Given the description of an element on the screen output the (x, y) to click on. 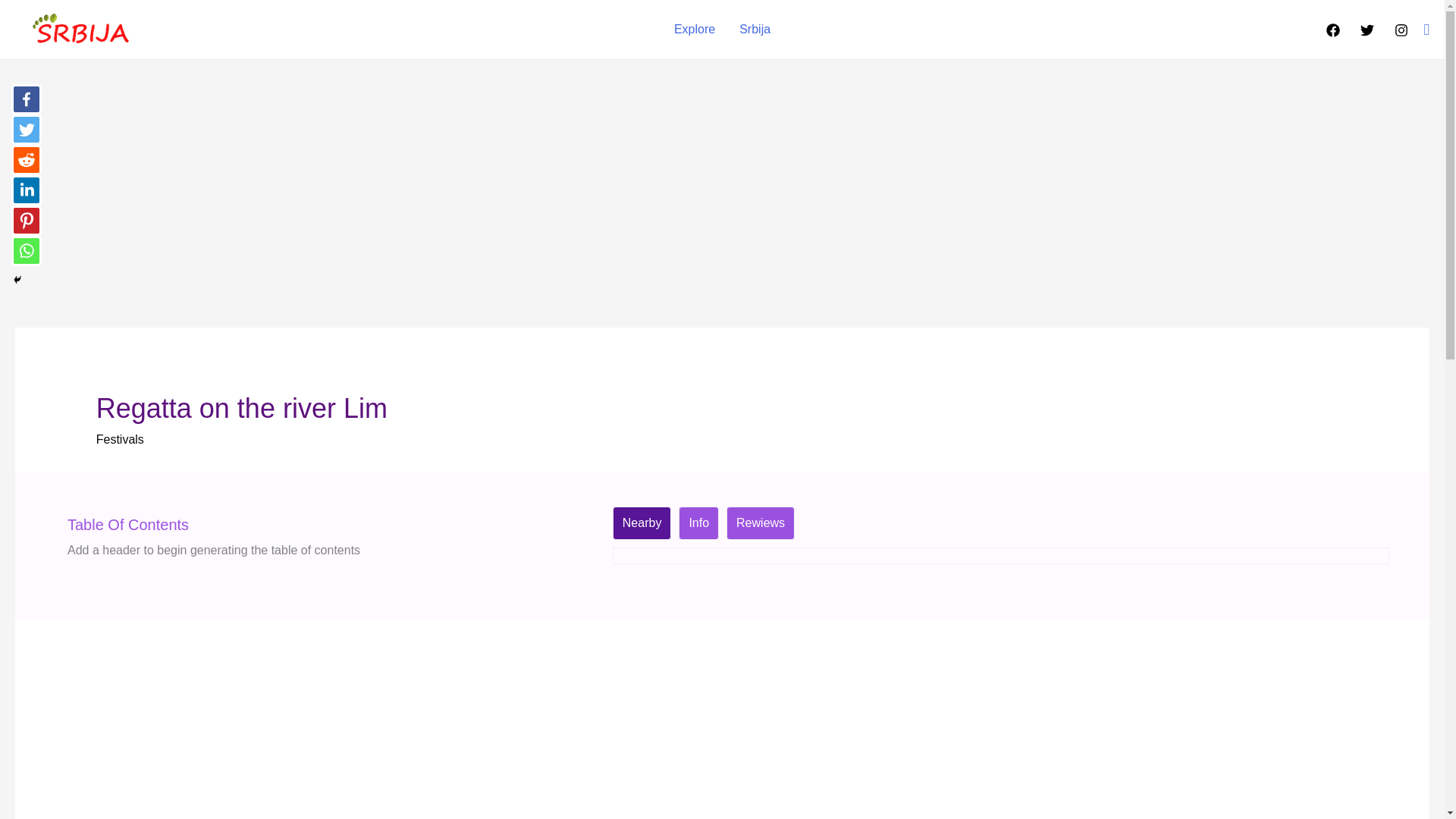
Info (698, 522)
Hide (17, 279)
Reddit (26, 159)
Whatsapp (26, 250)
Facebook (26, 99)
Rewiews (760, 522)
Nearby (642, 522)
Linkedin (26, 190)
